Given the description of an element on the screen output the (x, y) to click on. 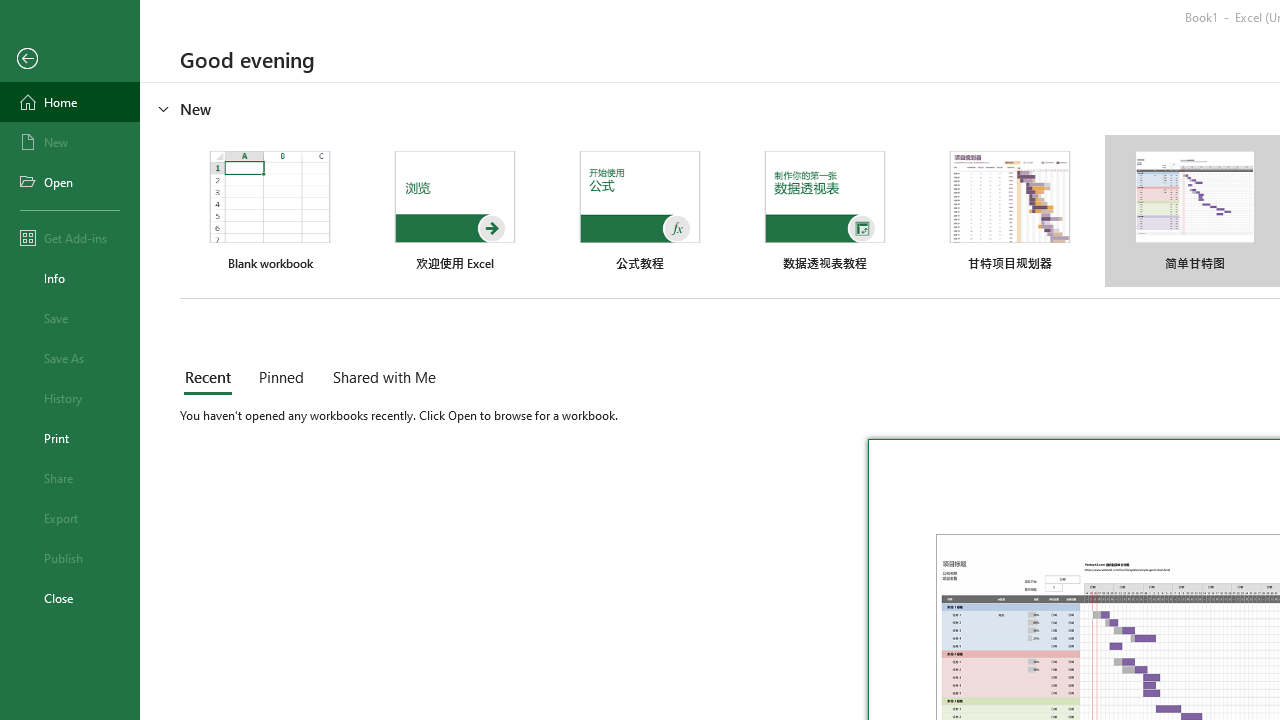
Home (69, 101)
Print (69, 437)
Back (69, 59)
Save As (69, 357)
New (69, 141)
Info (69, 277)
Pinned (280, 378)
Export (69, 517)
Shared with Me (379, 378)
Save (69, 317)
Close (69, 597)
System (10, 11)
History (69, 398)
Recent (212, 378)
